Given the description of an element on the screen output the (x, y) to click on. 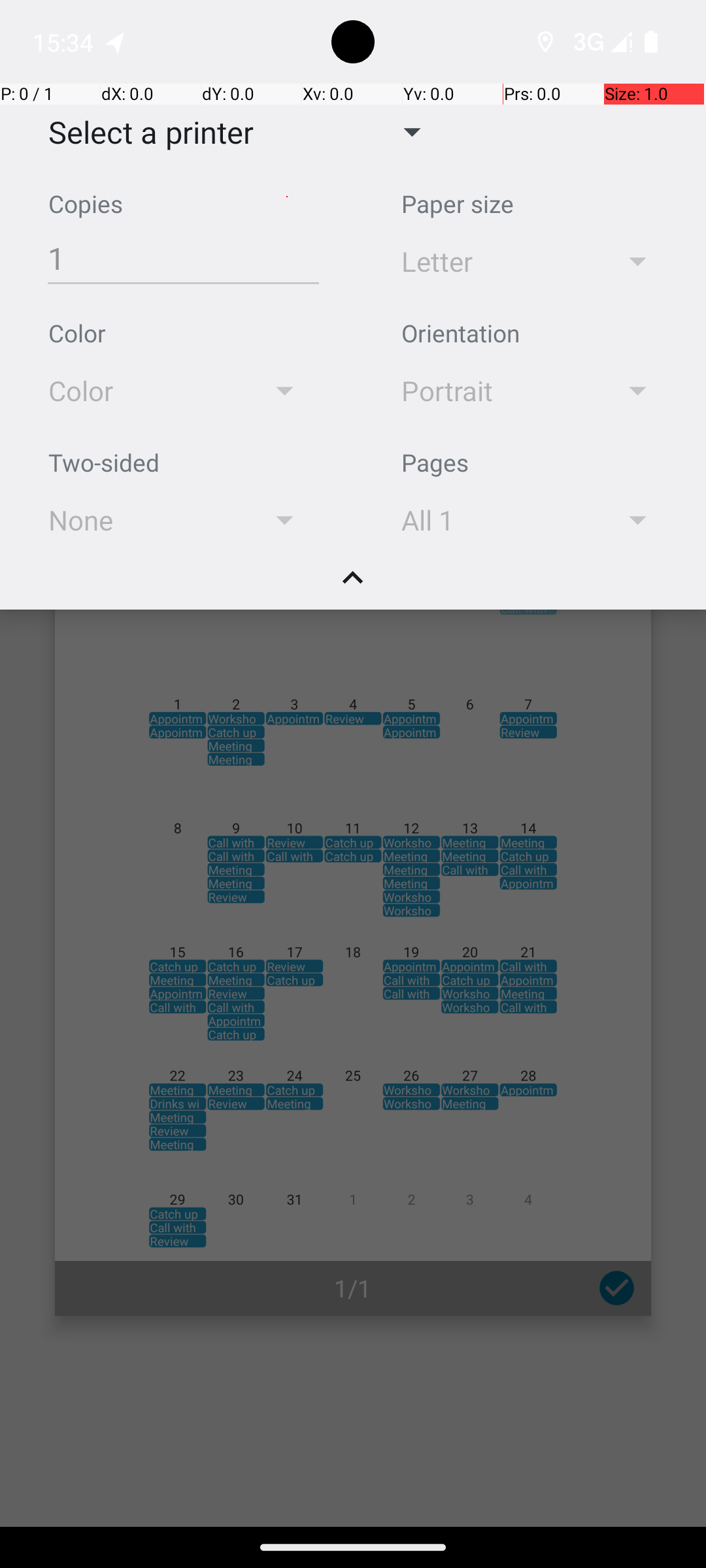
Copies Element type: android.widget.TextView (85, 203)
Paper size Element type: android.widget.TextView (457, 203)
Orientation Element type: android.widget.TextView (460, 332)
Two-sided Element type: android.widget.TextView (103, 461)
Pages Element type: android.widget.TextView (434, 461)
Collapse handle Element type: android.widget.FrameLayout (353, 585)
Select a printer Element type: android.widget.TextView (140, 131)
Letter Element type: android.widget.CheckedTextView (491, 261)
Portrait Element type: android.widget.CheckedTextView (491, 390)
All 1 Element type: android.widget.CheckedTextView (491, 519)
Page 1 of 1 Element type: android.widget.CompoundButton (352, 902)
1/1 Element type: android.widget.TextView (352, 1287)
